Given the description of an element on the screen output the (x, y) to click on. 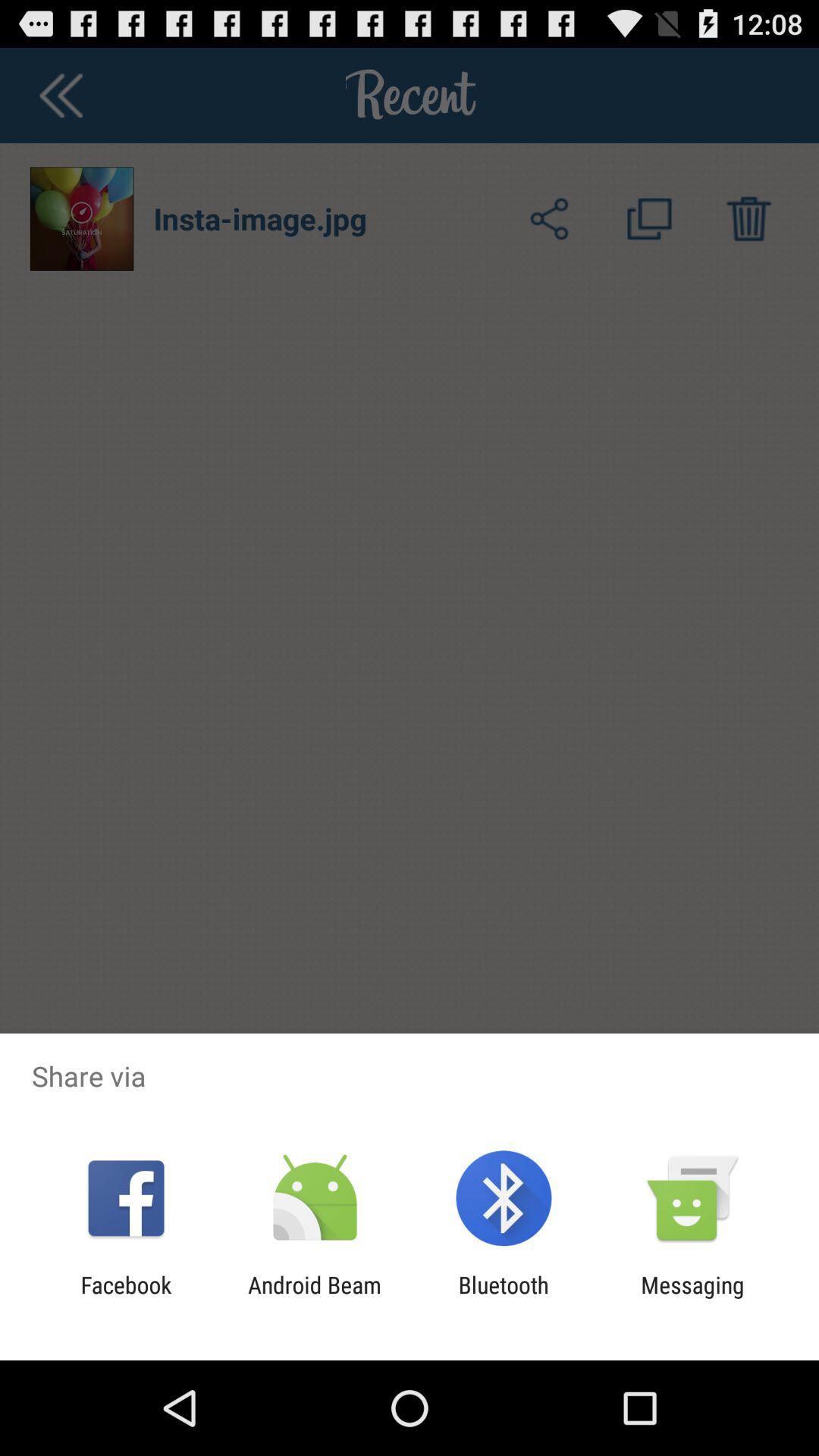
open app to the left of the bluetooth app (314, 1298)
